Given the description of an element on the screen output the (x, y) to click on. 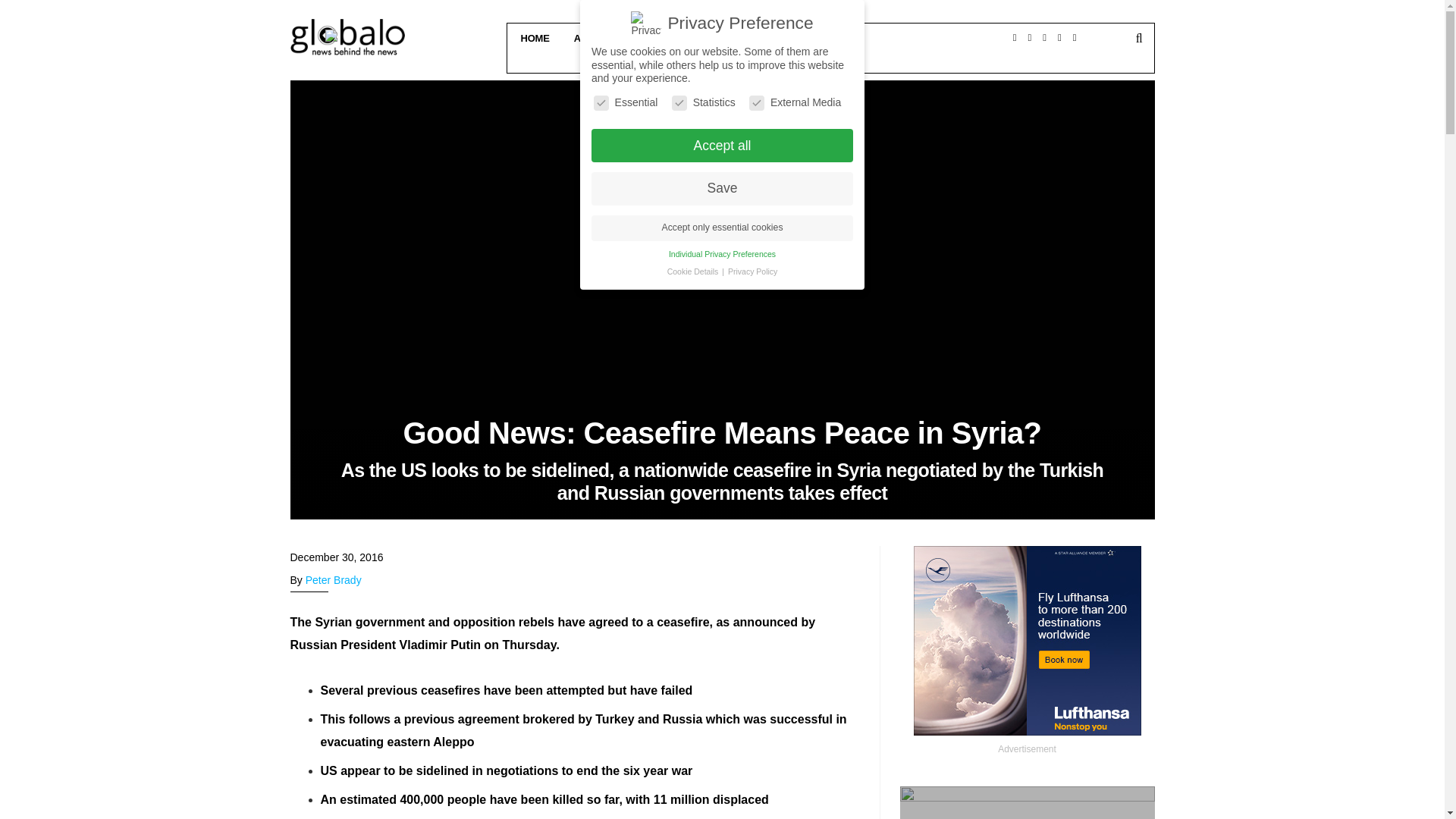
Peter Brady (333, 580)
CATEGORIES (678, 38)
join (832, 33)
ABOUT US (597, 38)
JOIN (832, 57)
HOME (532, 38)
CONTACT US (765, 38)
